Given the description of an element on the screen output the (x, y) to click on. 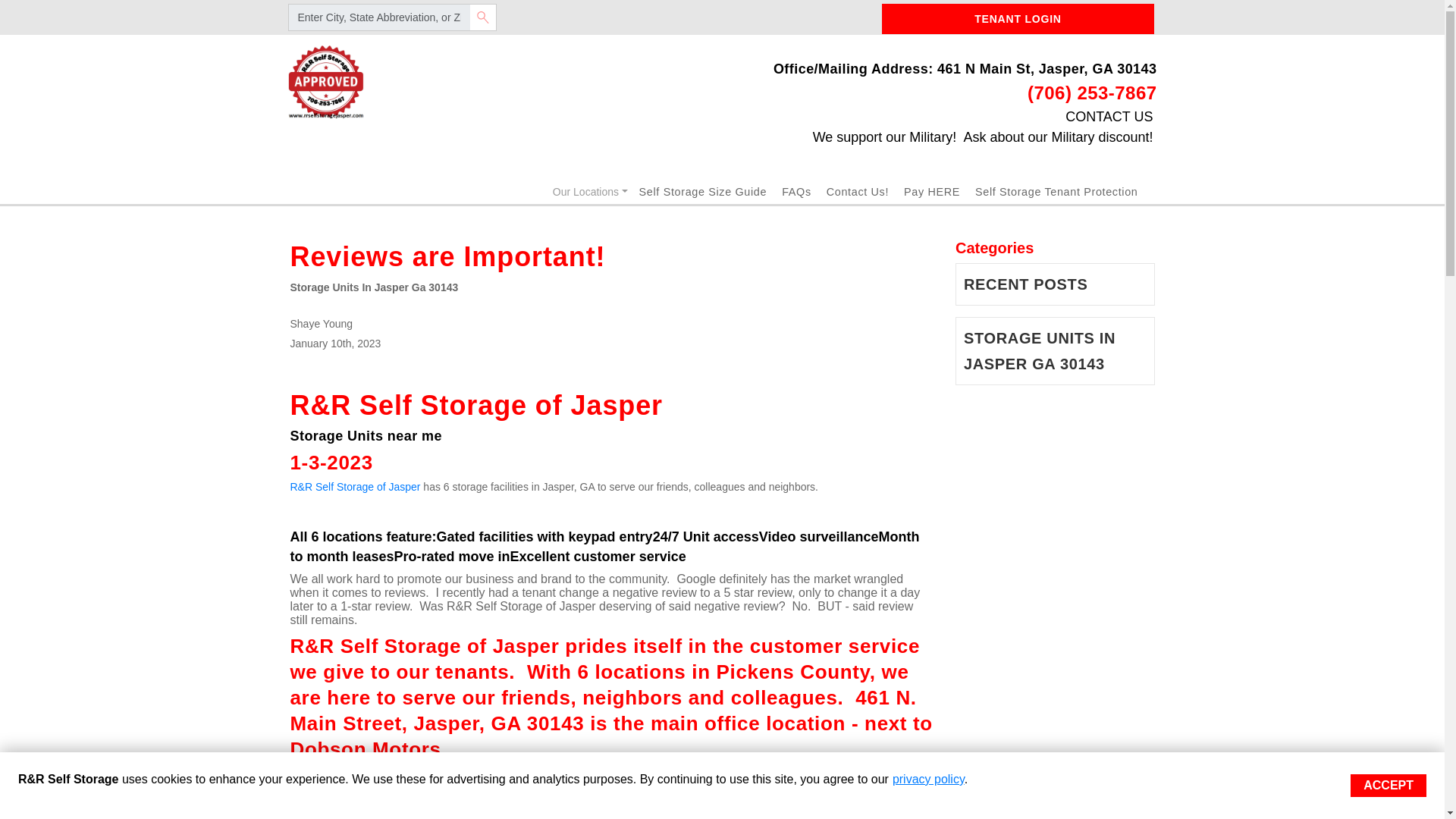
Contact Us! (857, 191)
CONTACT US (1109, 117)
TENANT LOGIN (1017, 19)
FAQs (795, 191)
STORAGE UNITS IN JASPER GA 30143 (1055, 350)
Rent Storage Now (326, 80)
Self Storage Size Guide (703, 191)
Pay HERE (931, 191)
RECENT POSTS (1055, 284)
Self Storage Tenant Protection (1056, 191)
